Given the description of an element on the screen output the (x, y) to click on. 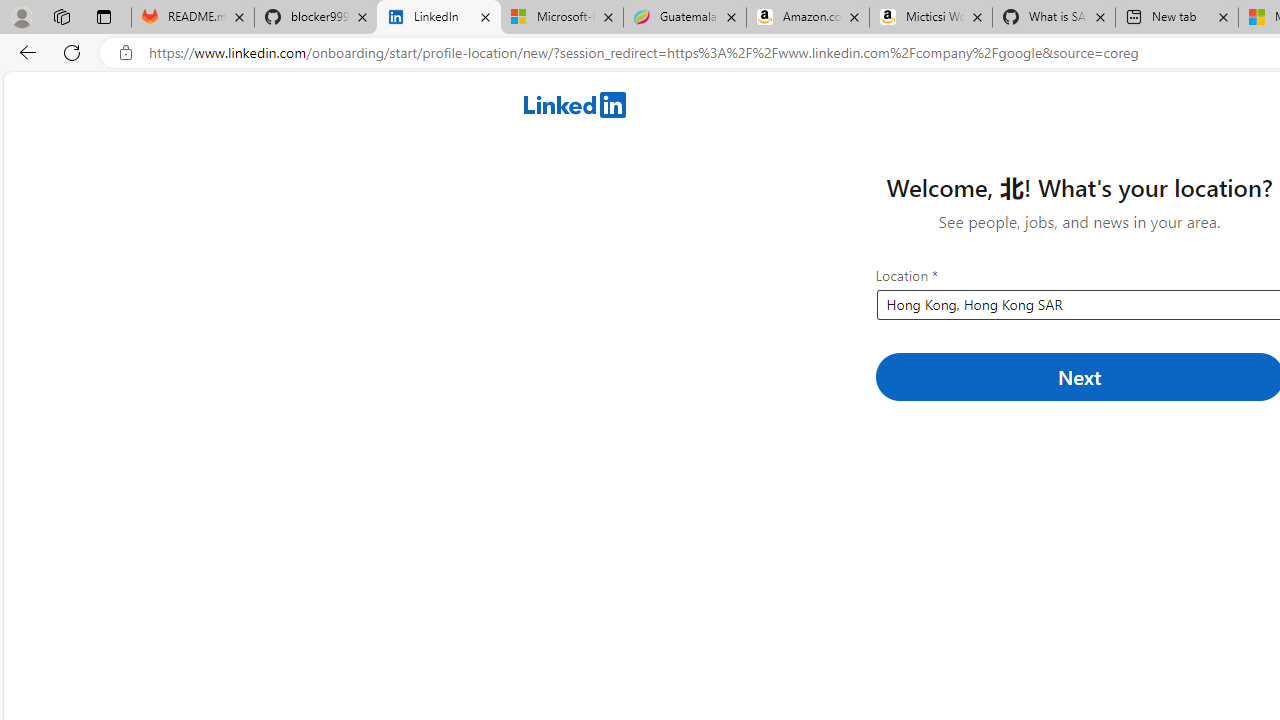
LinkedIn (438, 17)
